Given the description of an element on the screen output the (x, y) to click on. 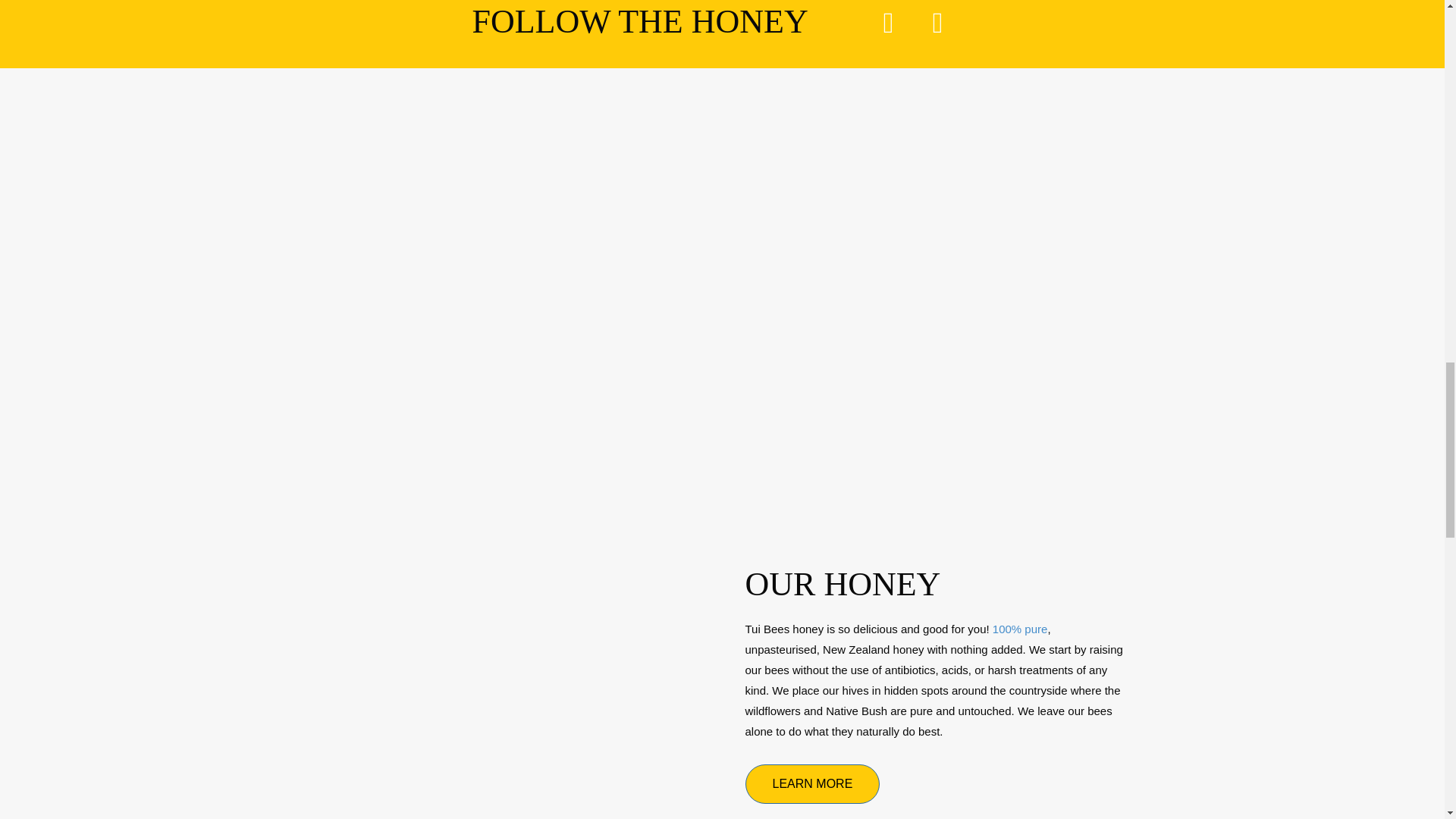
LEARN MORE (811, 783)
Instagram (937, 22)
Facebook (888, 22)
